Given the description of an element on the screen output the (x, y) to click on. 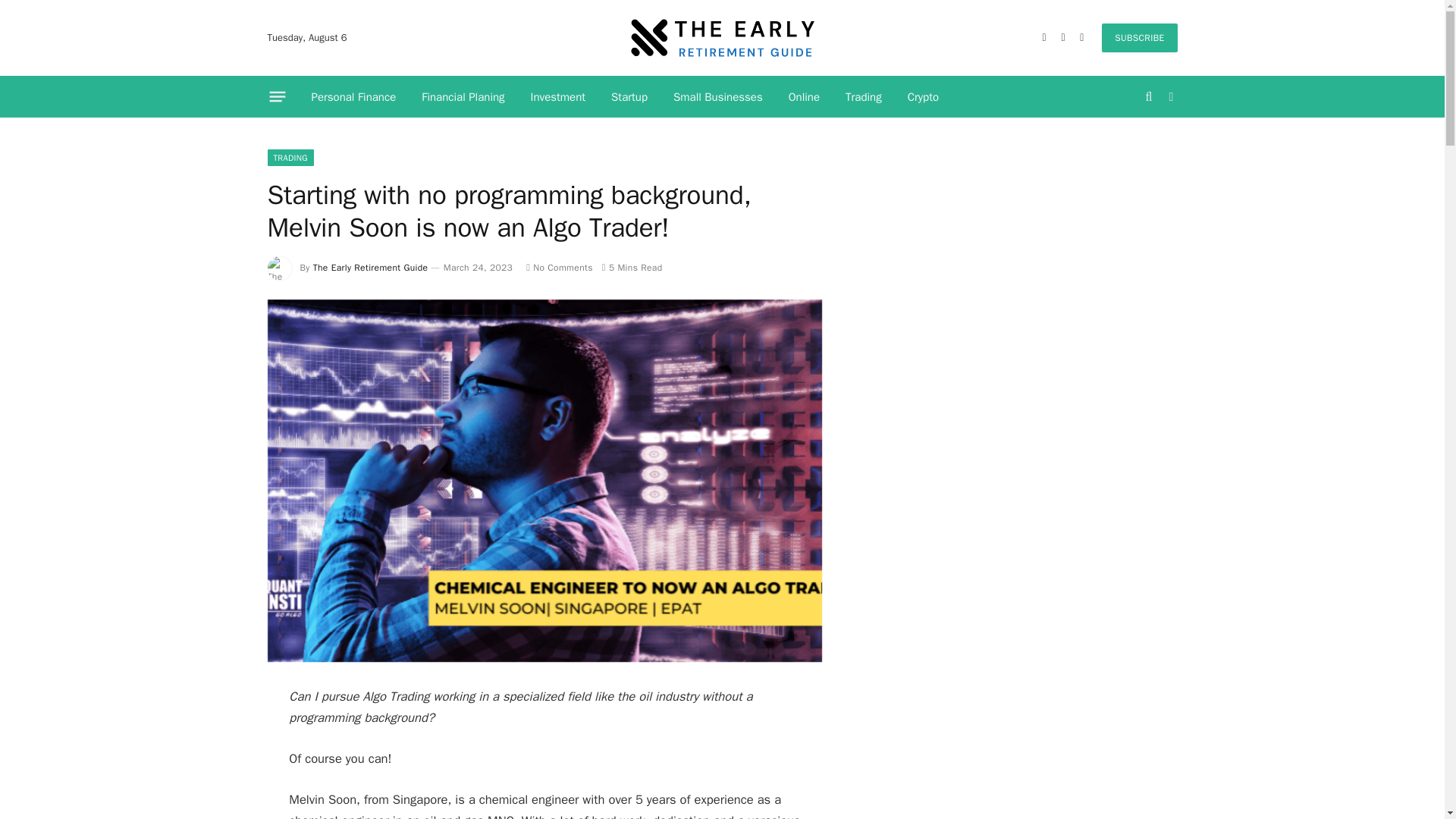
Startup (629, 96)
Financial Planing (462, 96)
Crypto (923, 96)
TRADING (289, 157)
SUBSCRIBE (1139, 37)
The Early Retirement Guide (721, 37)
Investment (558, 96)
The Early Retirement Guide (370, 267)
Switch to Dark Design - easier on eyes. (1169, 96)
Posts by The Early Retirement Guide (370, 267)
Online (804, 96)
Personal Finance (353, 96)
Trading (863, 96)
No Comments (558, 267)
